Given the description of an element on the screen output the (x, y) to click on. 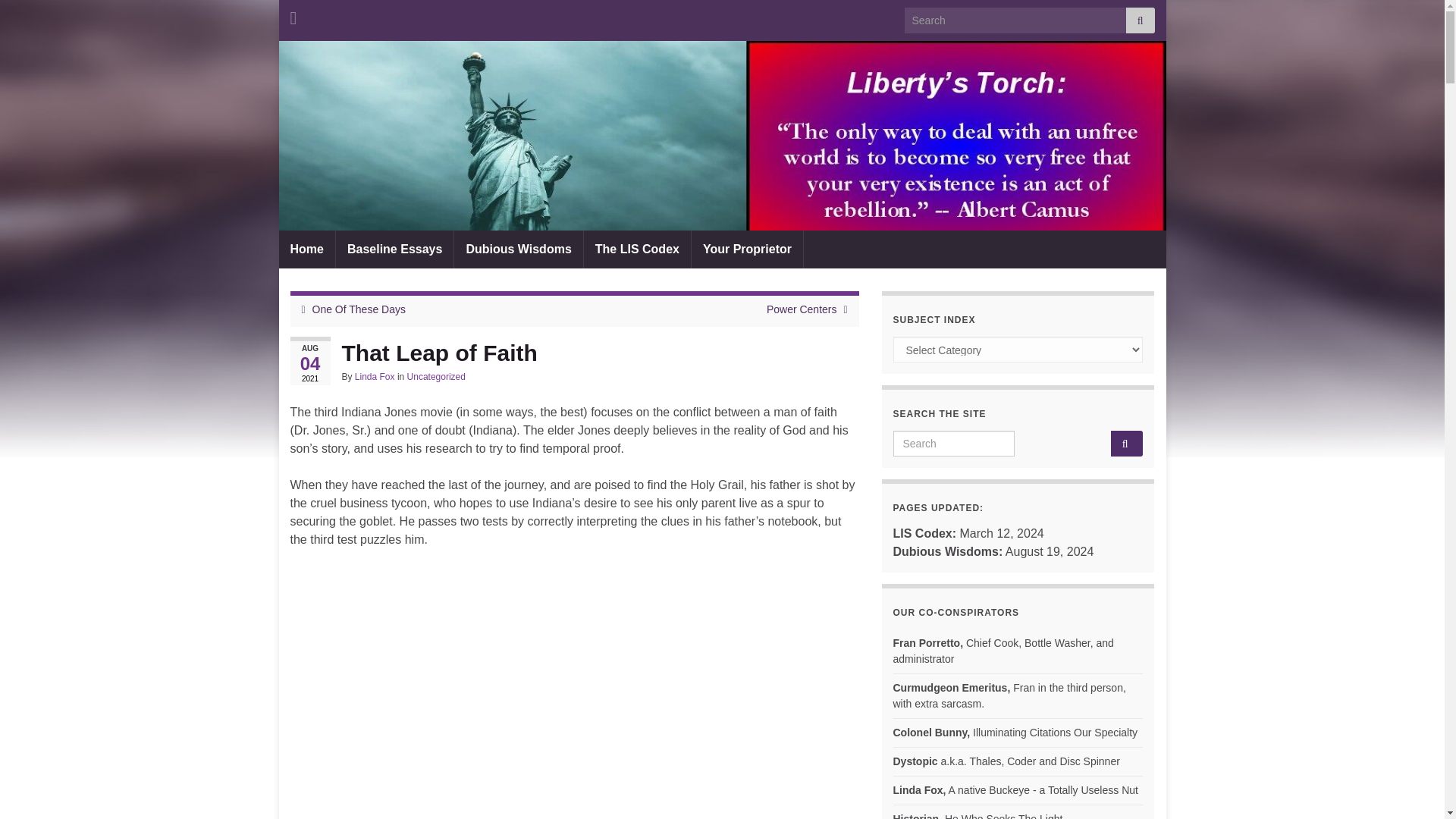
Your Proprietor (747, 249)
The LIS Codex (636, 249)
Baseline Essays (394, 249)
Linda Fox (374, 376)
Uncategorized (436, 376)
One Of These Days (359, 309)
Dubious Wisdoms (518, 249)
Home (306, 249)
